Given the description of an element on the screen output the (x, y) to click on. 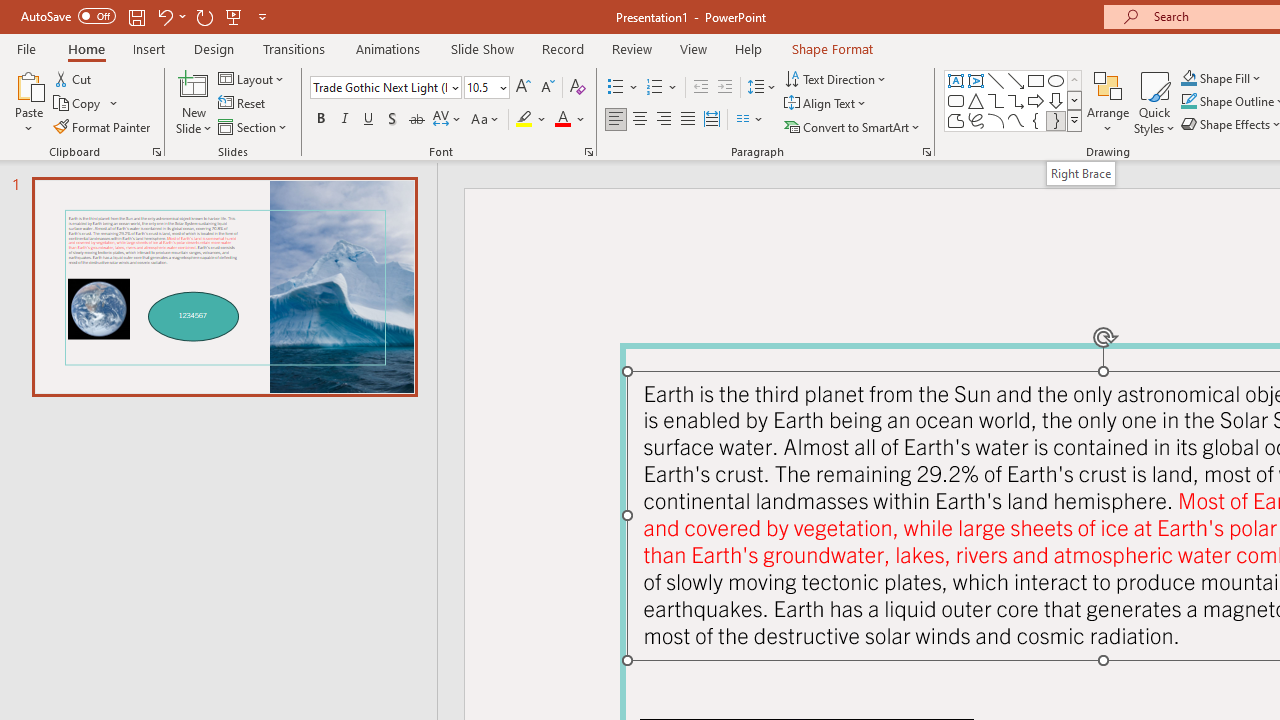
Shape Fill Aqua, Accent 2 (1188, 78)
